Given the description of an element on the screen output the (x, y) to click on. 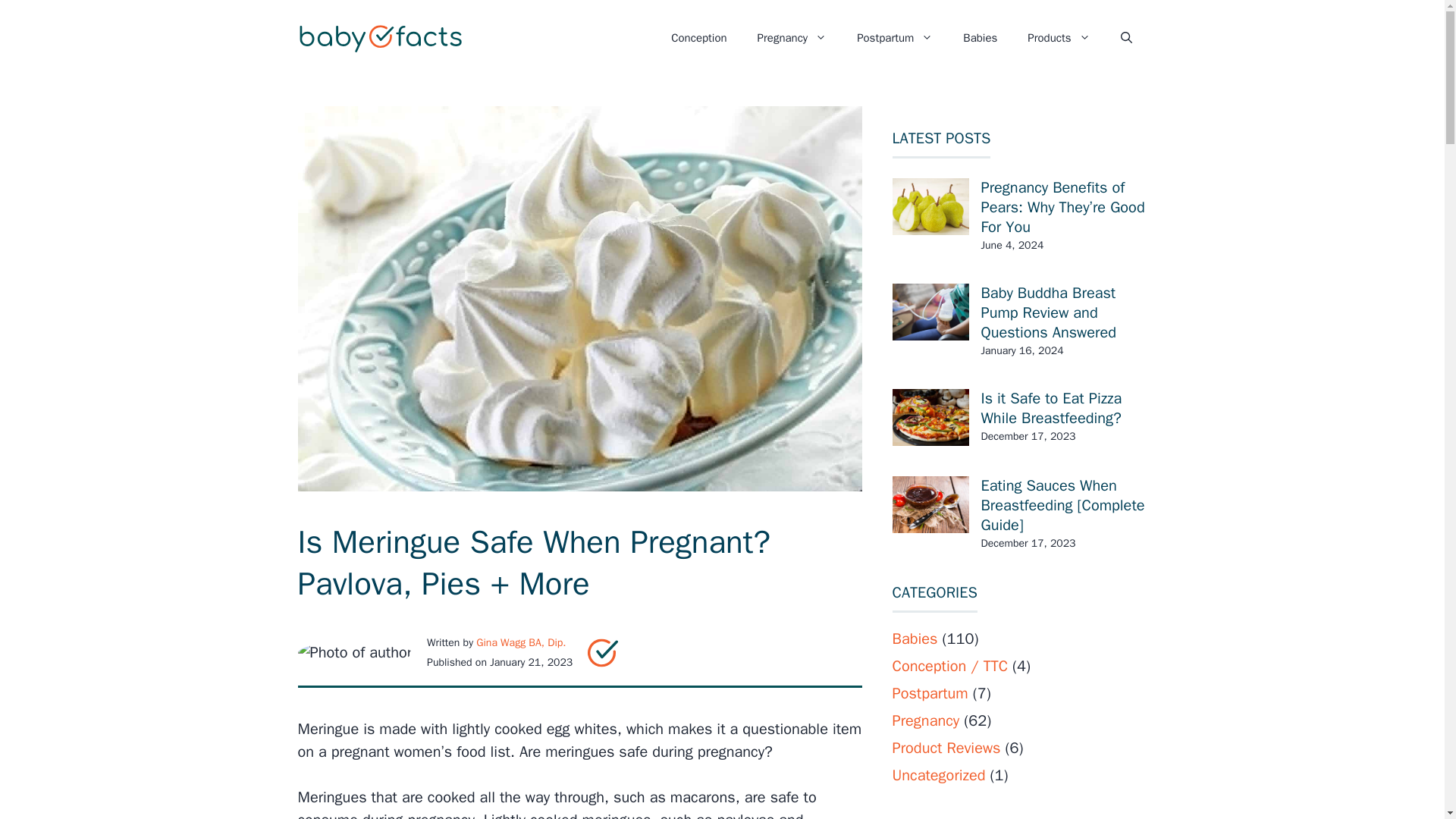
BabyFacts logo (602, 653)
Babies (979, 37)
Pregnancy (792, 37)
Gina Wagg BA, Dip. (521, 642)
Conception (698, 37)
Postpartum (894, 37)
Products (1058, 37)
